Given the description of an element on the screen output the (x, y) to click on. 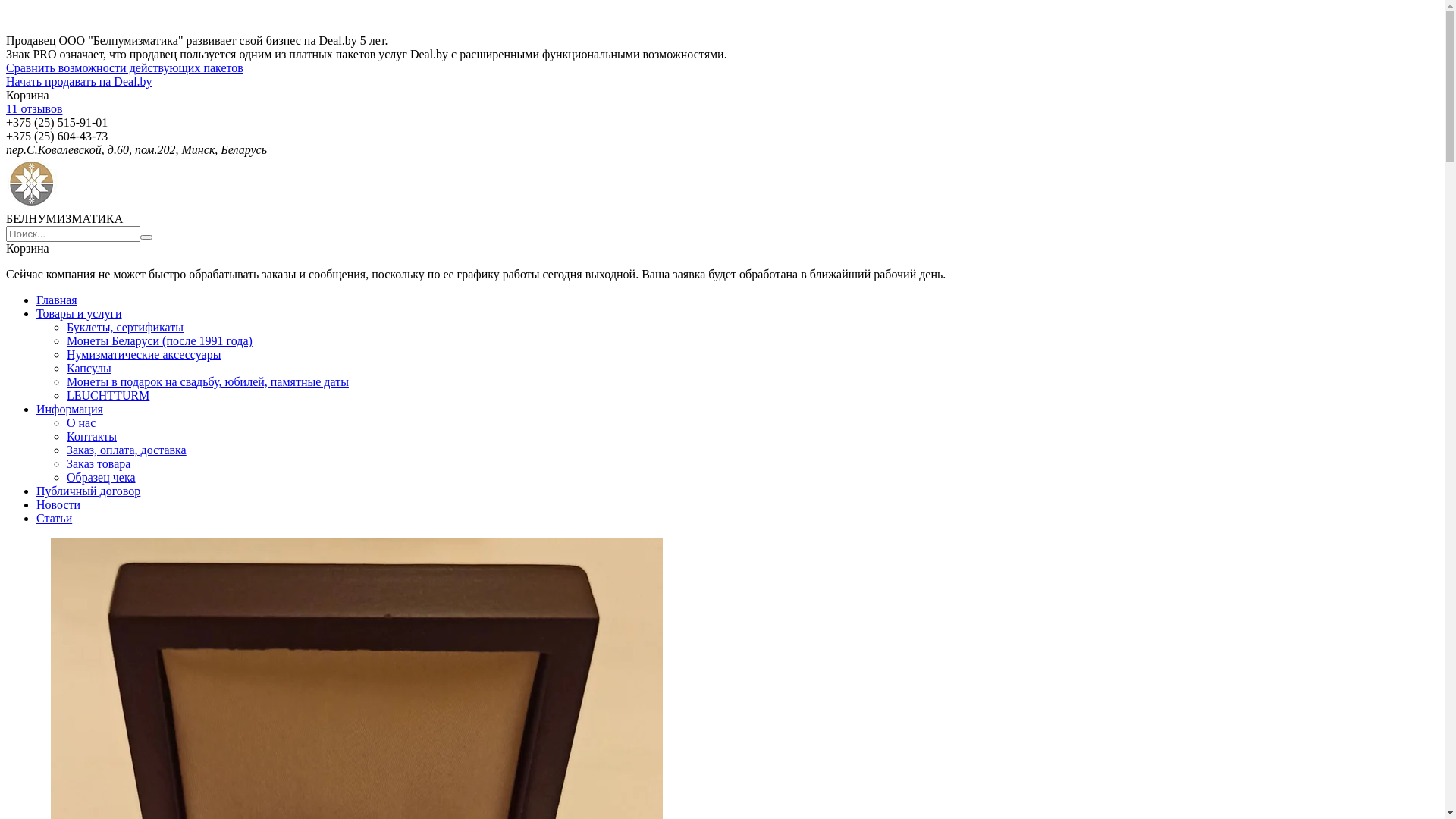
LEUCHTTURM Element type: text (107, 395)
